Given the description of an element on the screen output the (x, y) to click on. 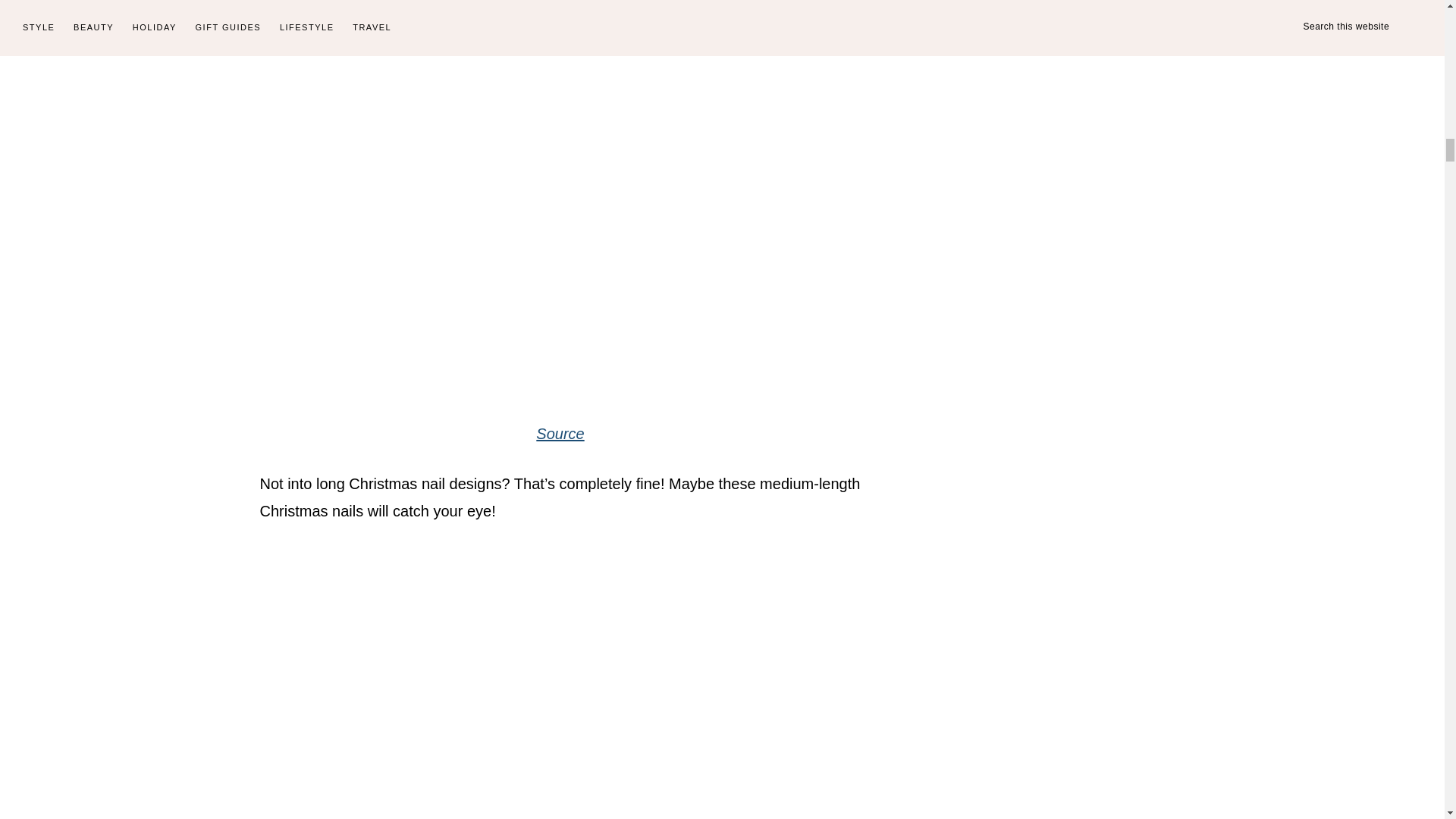
Source (559, 433)
